Given the description of an element on the screen output the (x, y) to click on. 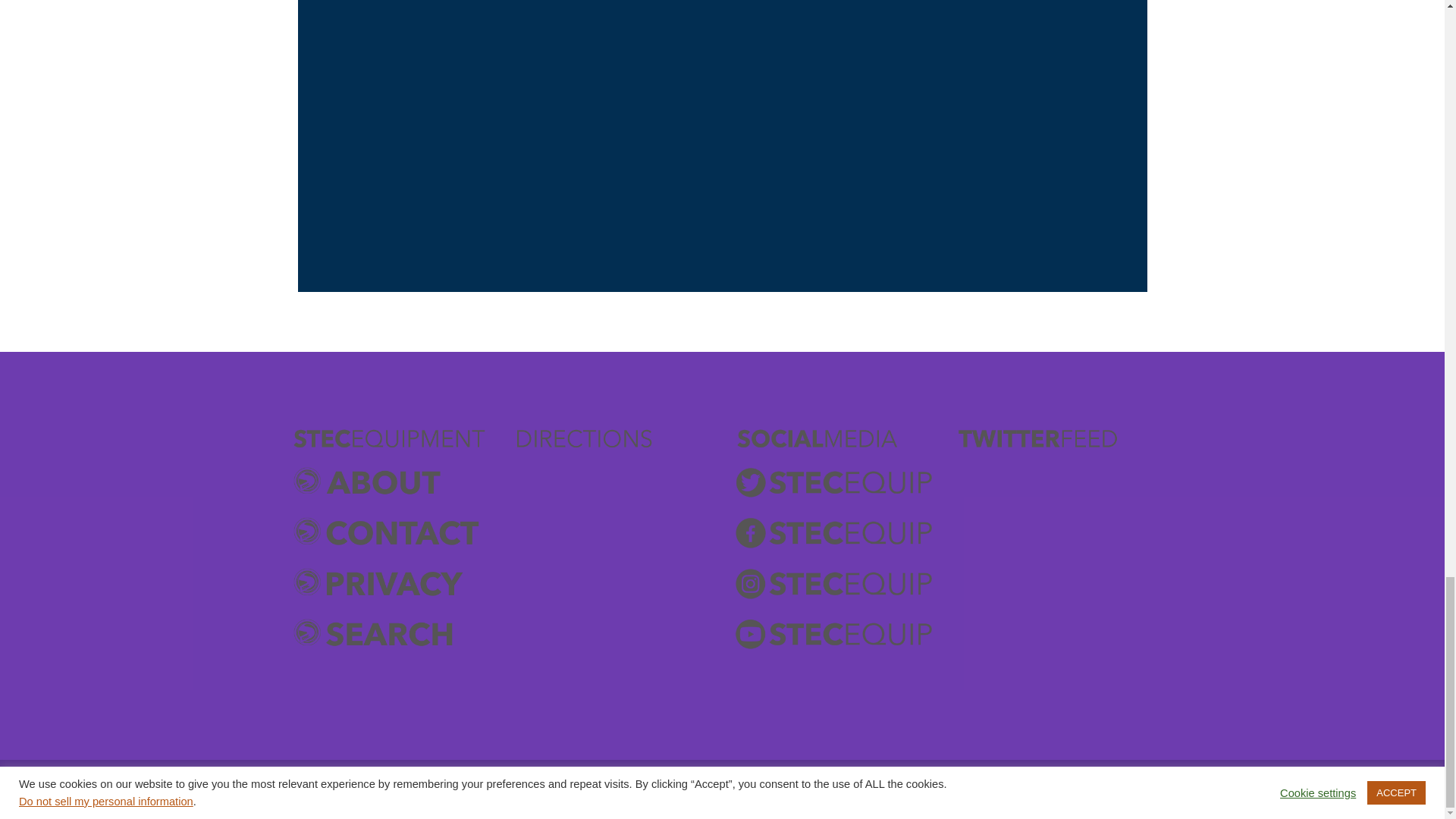
Privacy (389, 582)
Contact (389, 531)
Instagram (833, 582)
Search (389, 633)
Twitter (833, 481)
Facebook (833, 531)
About (389, 481)
Youtube (833, 633)
